Given the description of an element on the screen output the (x, y) to click on. 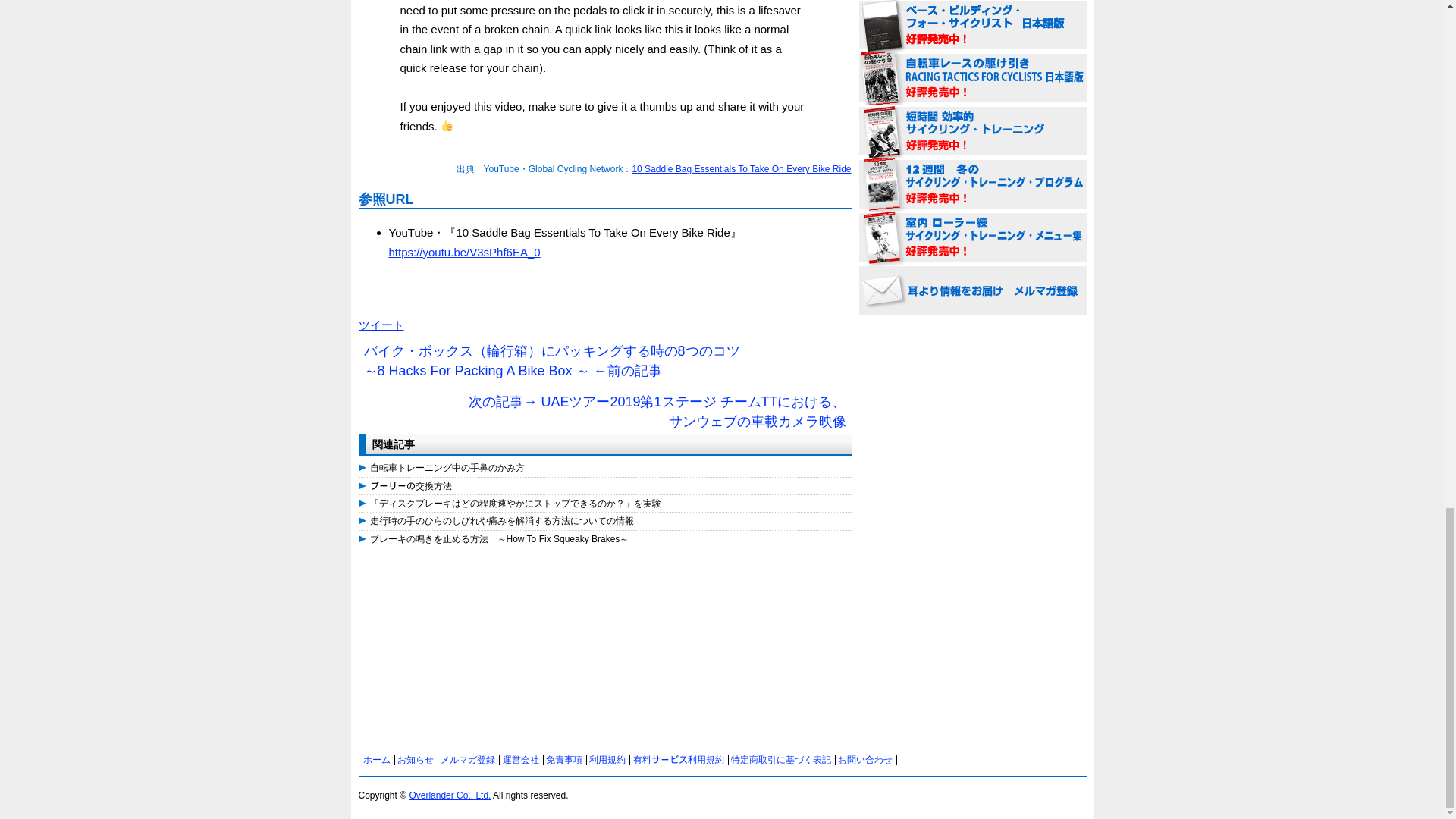
10 Saddle Bag Essentials To Take On Every Bike Ride (740, 168)
3rd party ad content (471, 657)
